Given the description of an element on the screen output the (x, y) to click on. 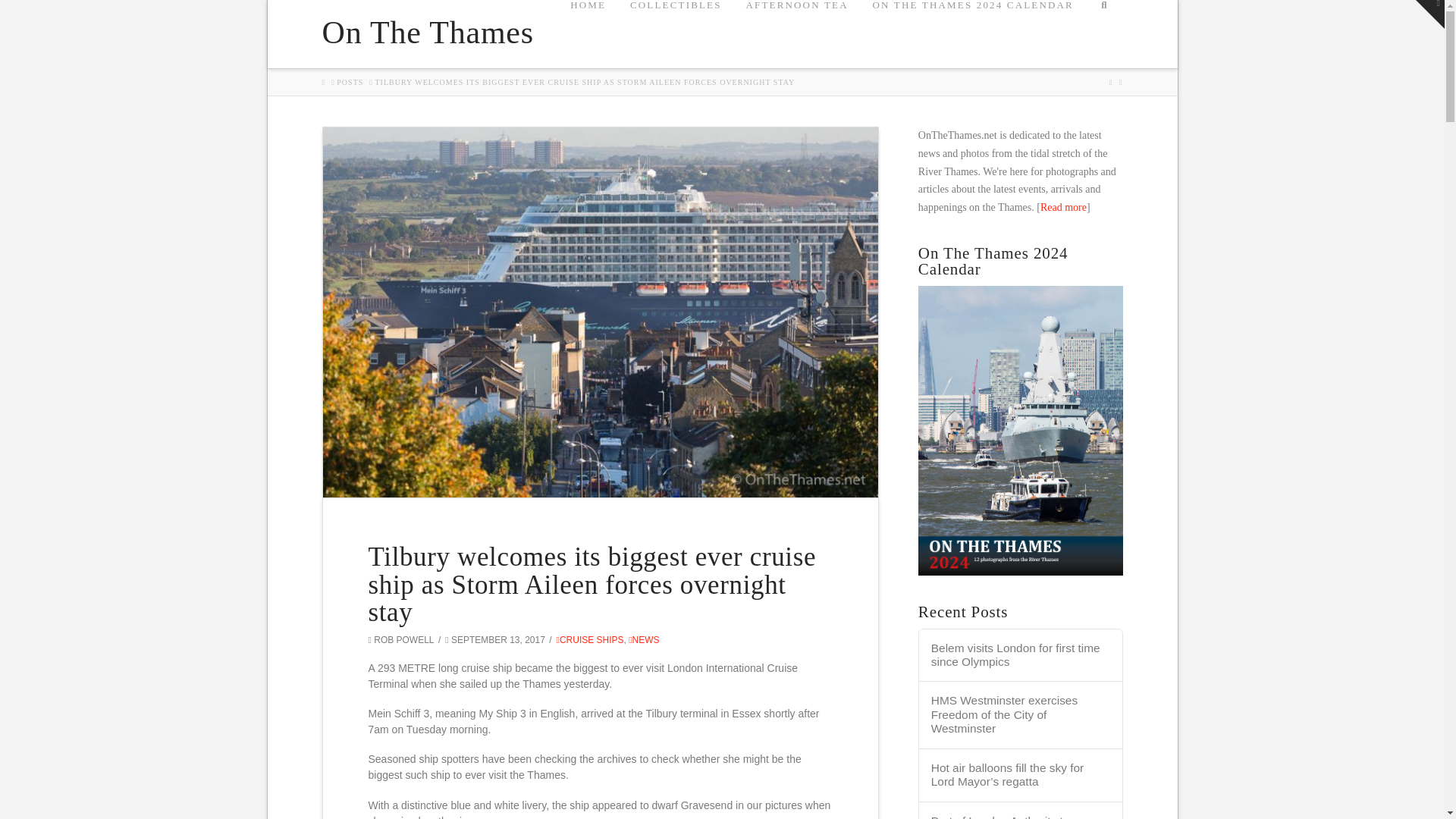
On The Thames (426, 32)
Read more (1063, 206)
Belem visits London for first time since Olympics (1020, 655)
NEWS (643, 639)
You Are Here (584, 81)
HMS Westminster exercises Freedom of the City of Westminster (1020, 714)
COLLECTIBLES (675, 33)
ON THE THAMES 2024 CALENDAR (972, 33)
AFTERNOON TEA (795, 33)
POSTS (349, 81)
CRUISE SHIPS (590, 639)
